Given the description of an element on the screen output the (x, y) to click on. 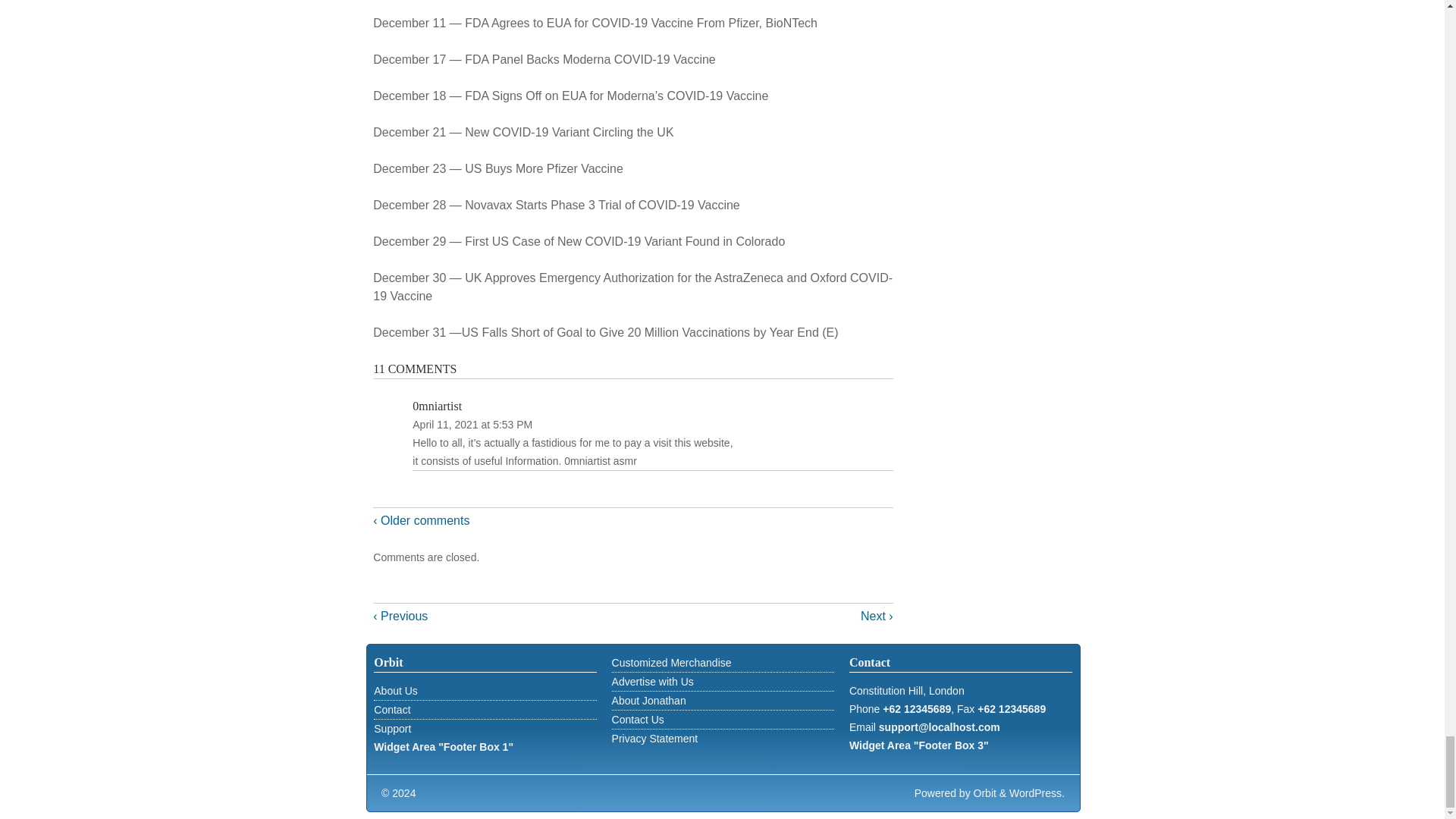
0mniartist (436, 405)
Semantic Personal Publishing Platform (1036, 793)
Orbit Theme by bitado.com (984, 793)
